Given the description of an element on the screen output the (x, y) to click on. 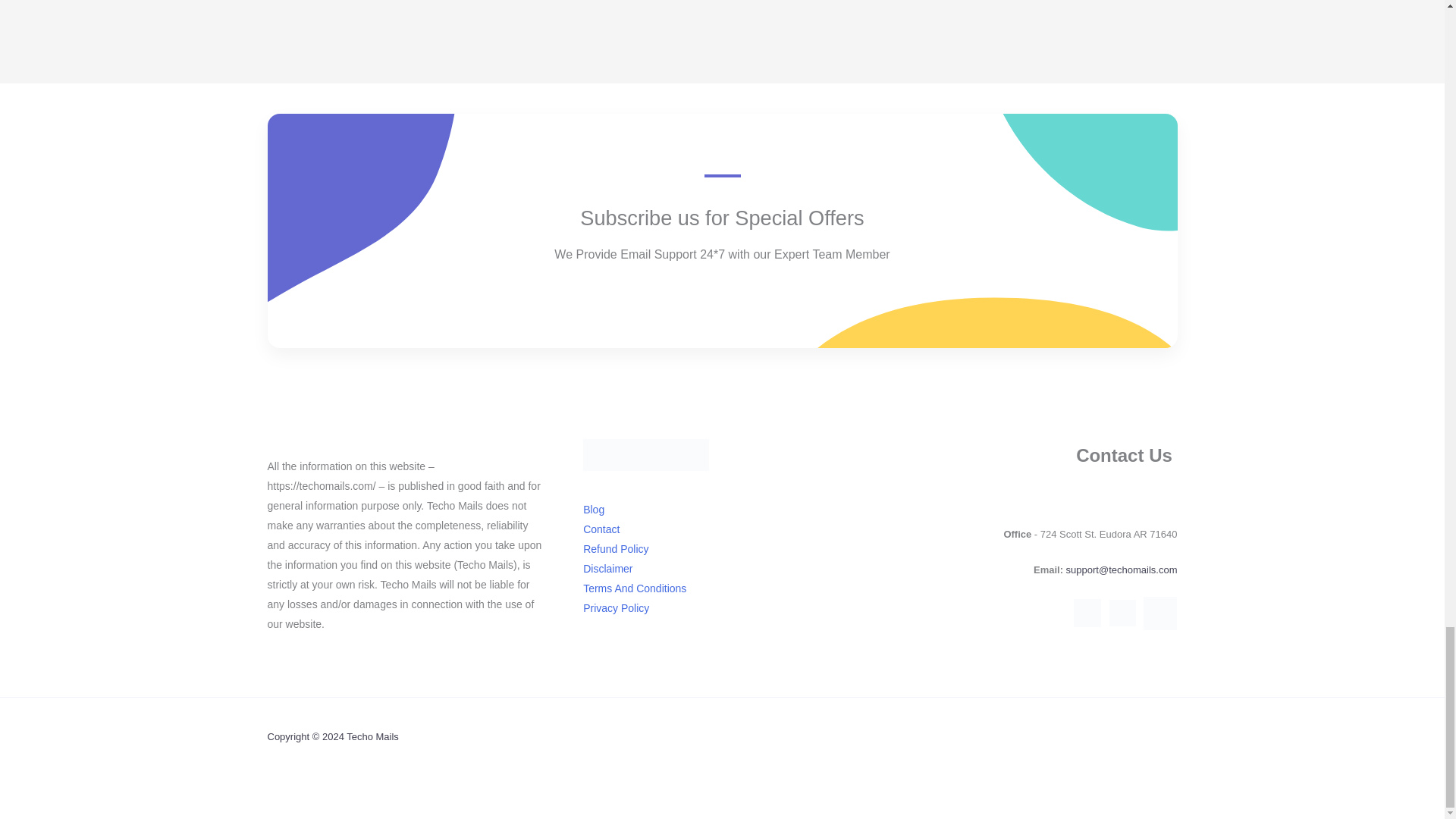
Terms And Conditions (634, 588)
Privacy Policy (616, 607)
Disclaimer (607, 568)
Contact (601, 529)
Refund Policy (615, 548)
Blog (593, 509)
